Given the description of an element on the screen output the (x, y) to click on. 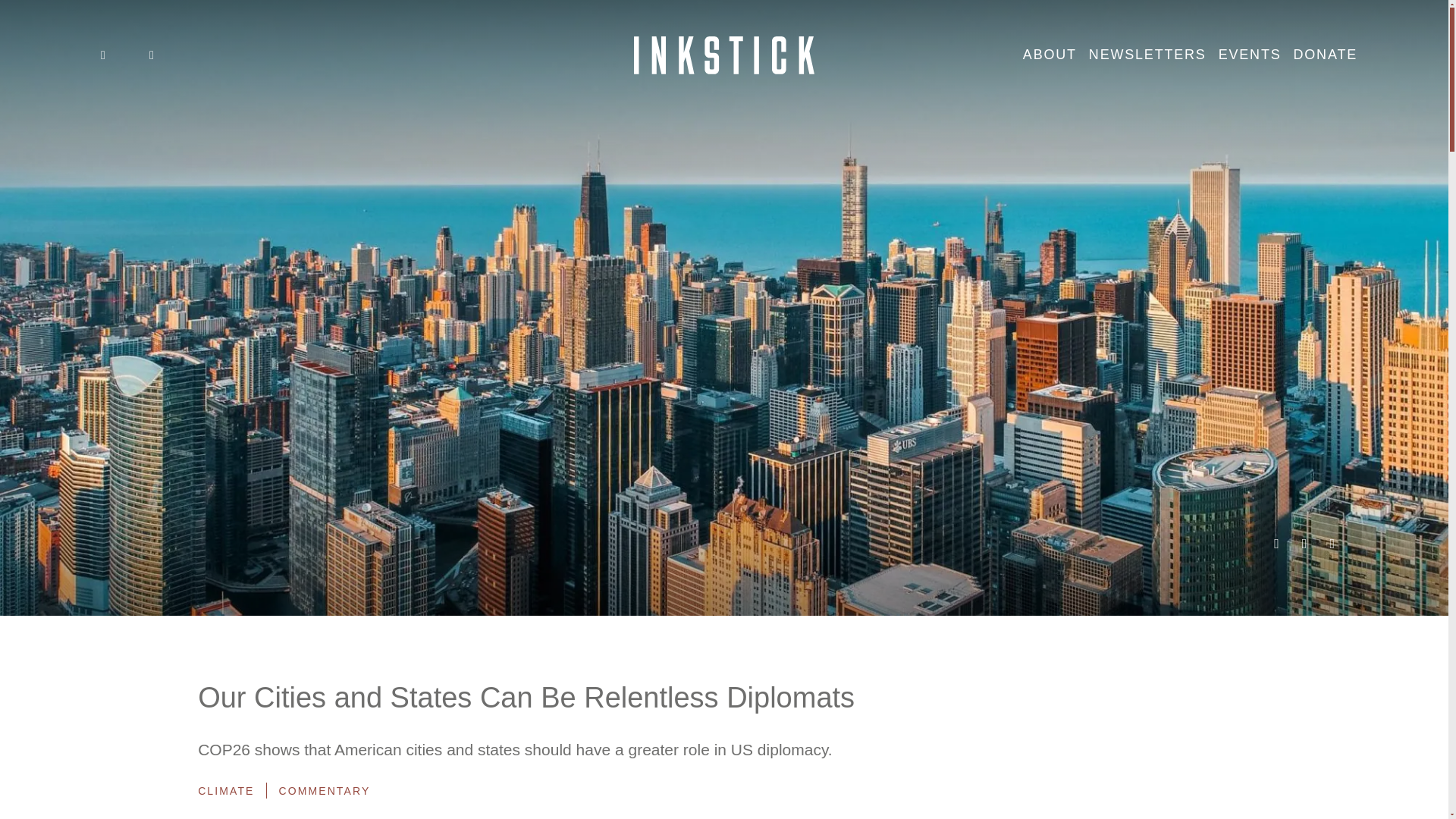
NEWSLETTERS (1148, 54)
EVENTS (1249, 54)
ABOUT (1050, 54)
DONATE (1325, 54)
